Given the description of an element on the screen output the (x, y) to click on. 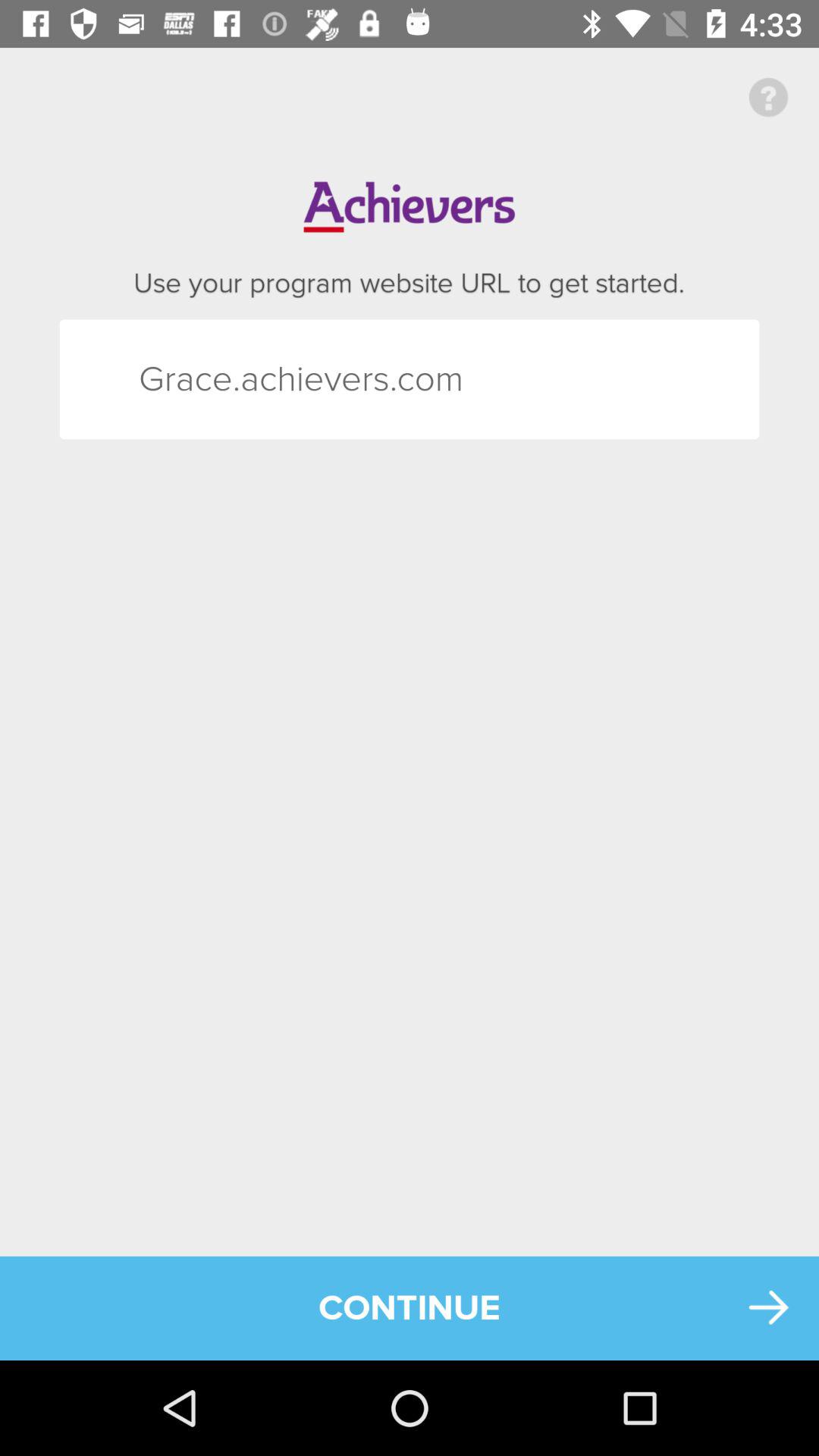
turn off the grace icon (165, 379)
